Given the description of an element on the screen output the (x, y) to click on. 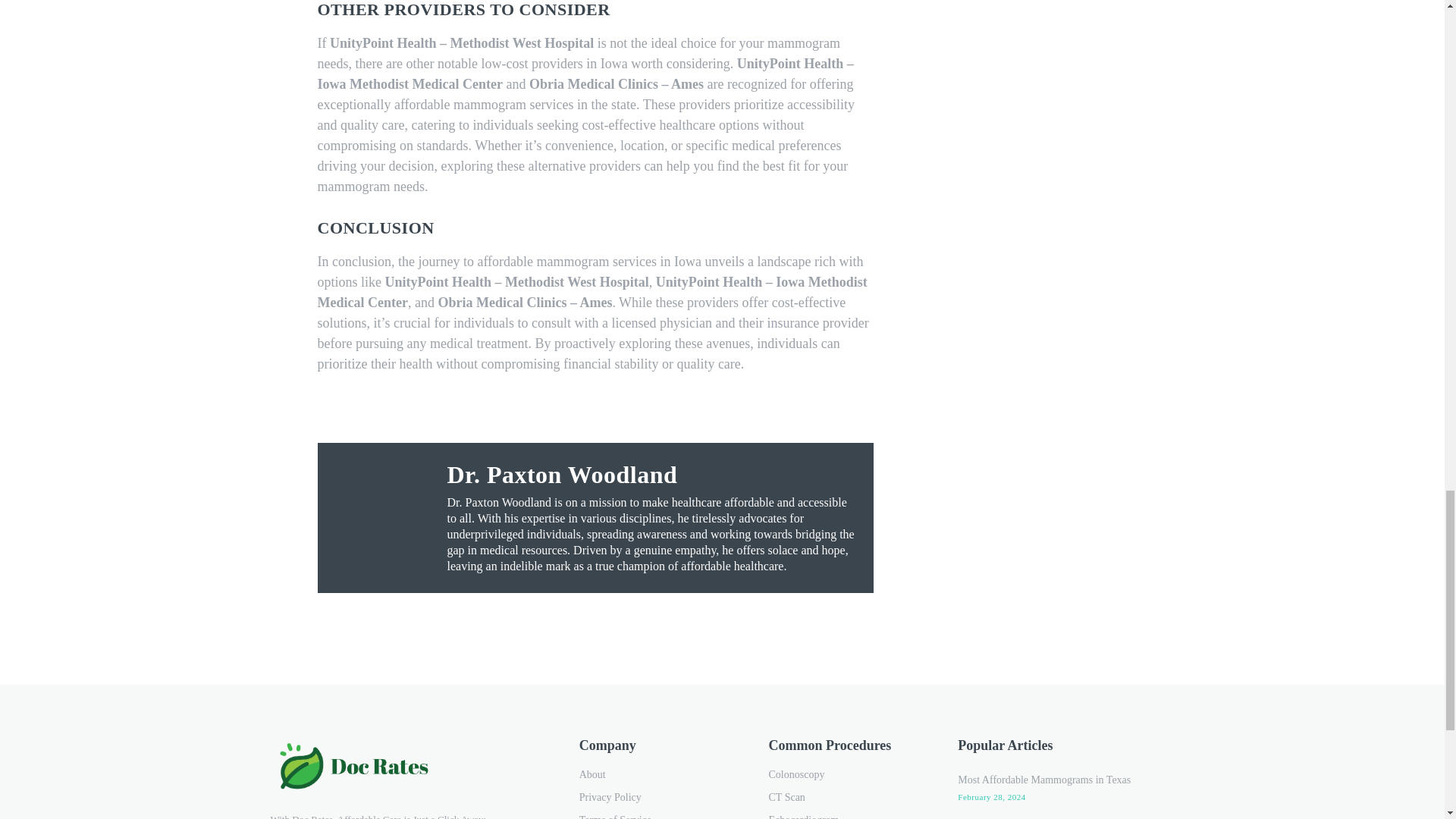
Most Affordable Mammograms in Texas (1044, 779)
Privacy Policy (655, 797)
Terms of Service (655, 814)
Dr. Paxton Woodland (651, 474)
About (655, 774)
Most Affordable Mammograms in Texas (1044, 779)
Colonoscopy (844, 774)
CT Scan (844, 797)
Echocardiogram (844, 814)
